Given the description of an element on the screen output the (x, y) to click on. 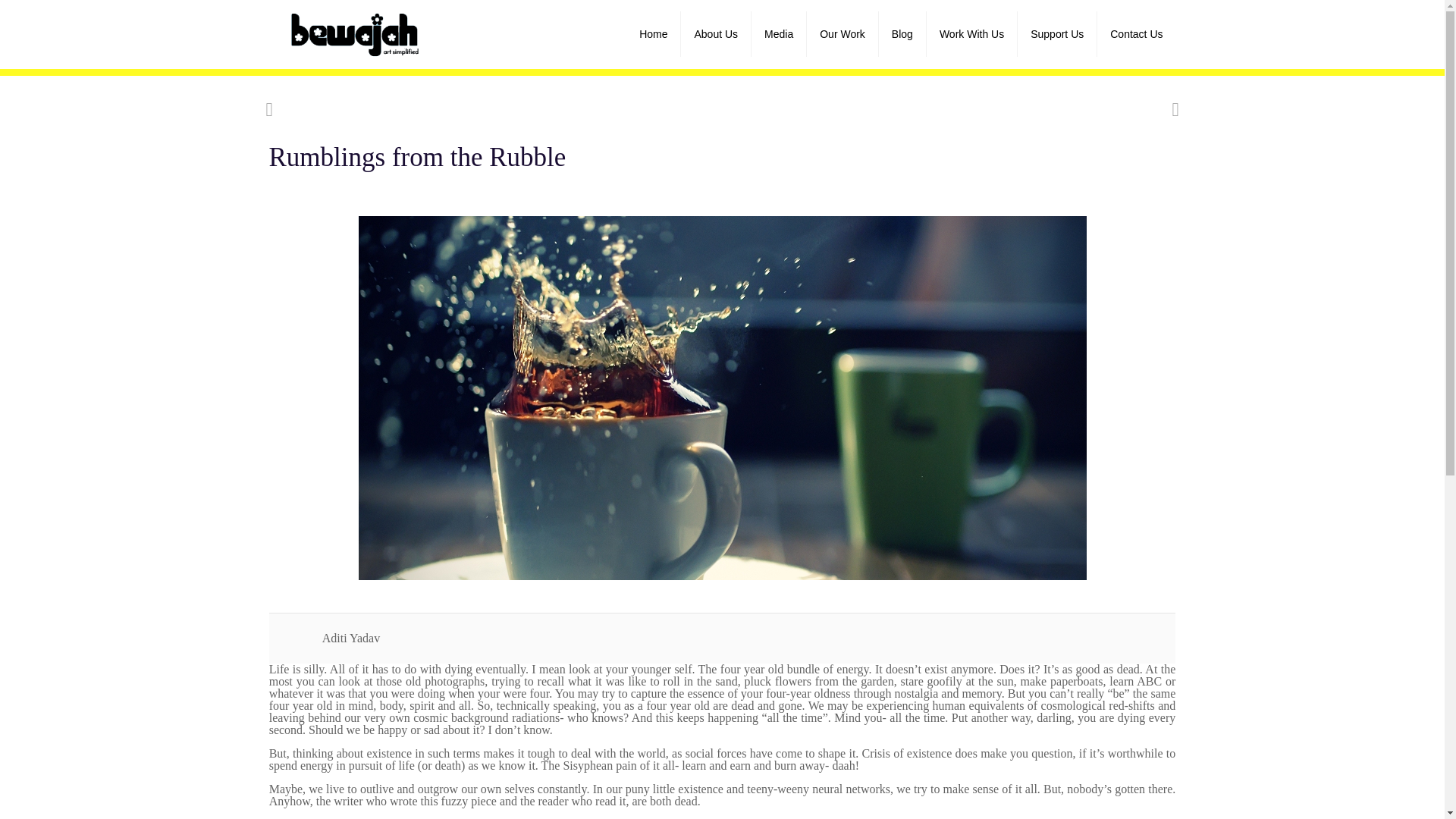
About Us (716, 33)
Our Work (842, 33)
Bewajah Society (356, 33)
Work With Us (971, 33)
Support Us (1057, 33)
Contact Us (1135, 33)
